Given the description of an element on the screen output the (x, y) to click on. 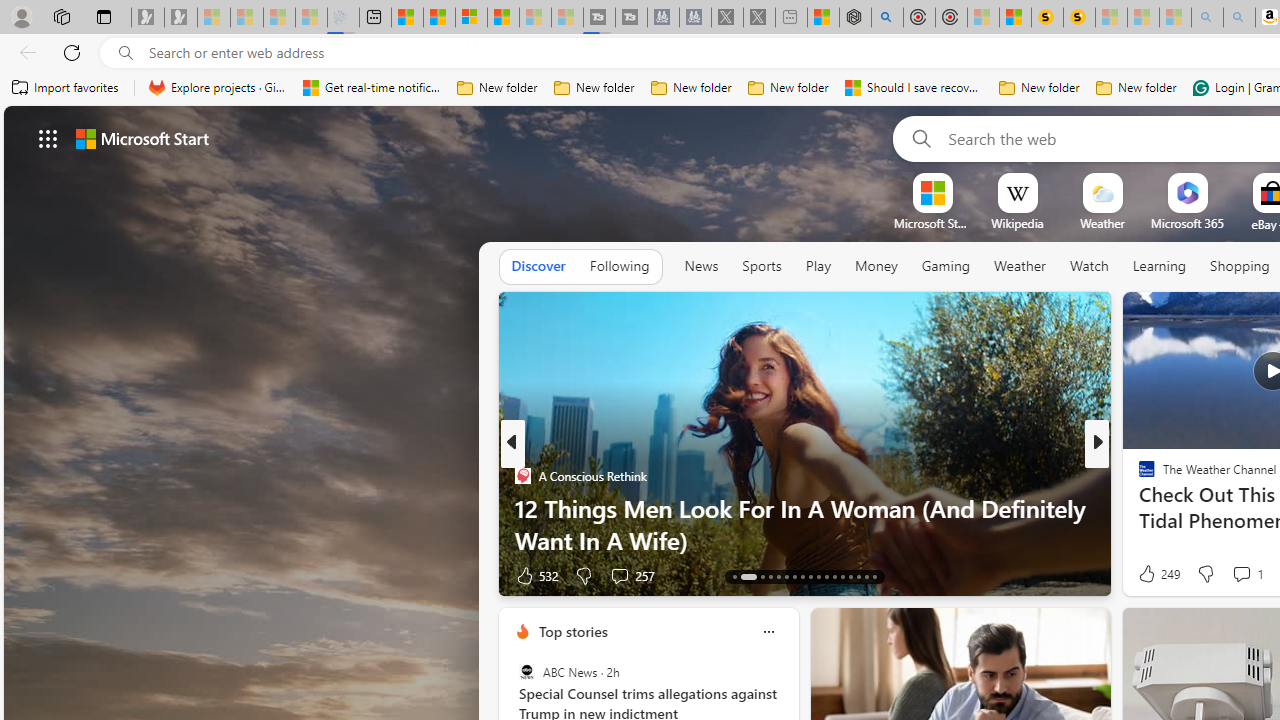
View comments 3 Comment (1241, 574)
View comments 257 Comment (619, 575)
Amazon Echo Dot PNG - Search Images - Sleeping (1239, 17)
View comments 5 Comment (1229, 575)
Import favorites (65, 88)
Wikipedia (1017, 223)
Nature of Home (1138, 507)
The Verge (1138, 507)
4 Like (1145, 574)
View comments 366 Comment (1234, 575)
Weather (1020, 265)
To get missing image descriptions, open the context menu. (932, 192)
